Given the description of an element on the screen output the (x, y) to click on. 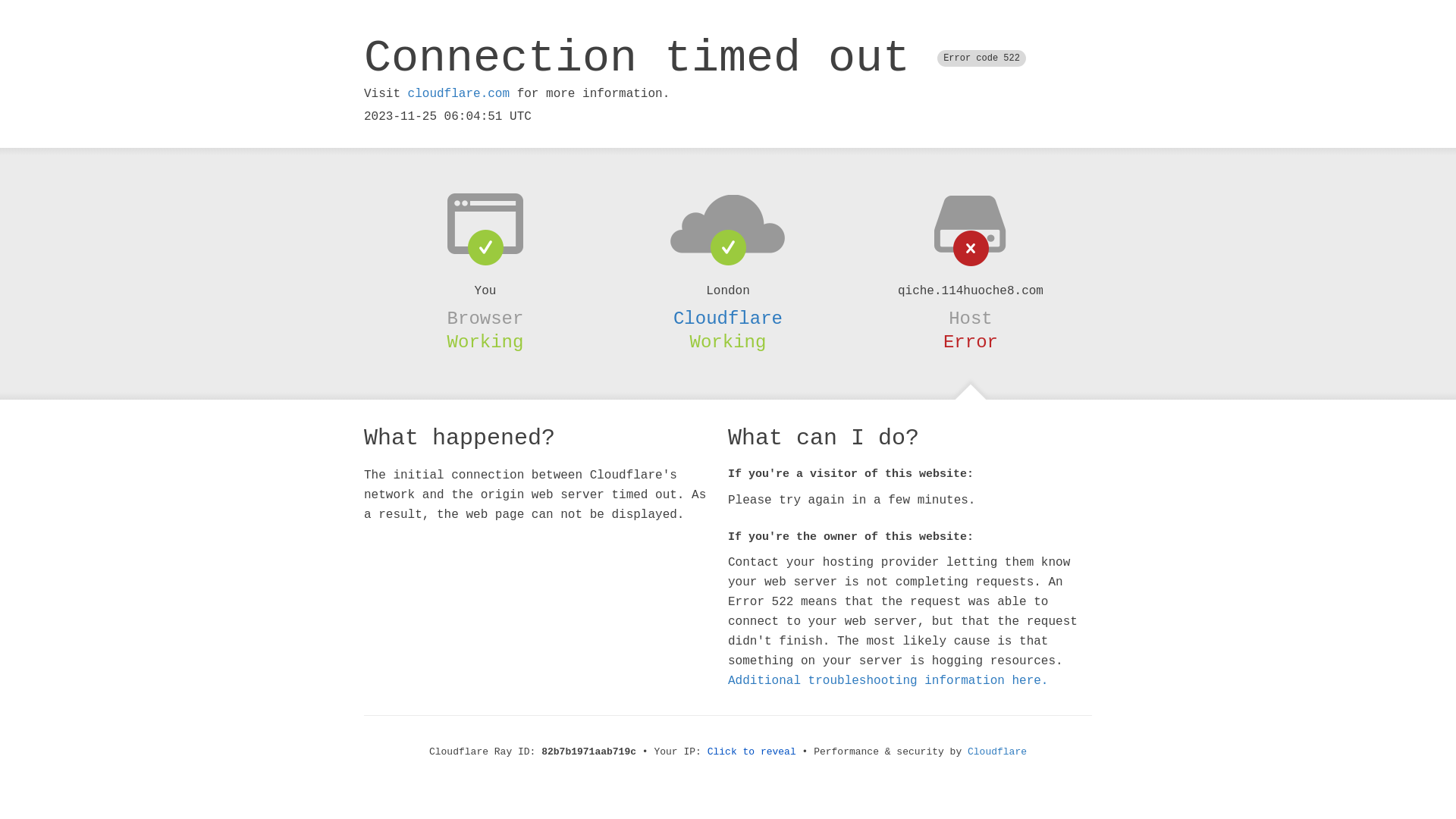
Click to reveal Element type: text (751, 751)
Cloudflare Element type: text (727, 318)
cloudflare.com Element type: text (458, 93)
Cloudflare Element type: text (996, 751)
Additional troubleshooting information here. Element type: text (888, 680)
